Given the description of an element on the screen output the (x, y) to click on. 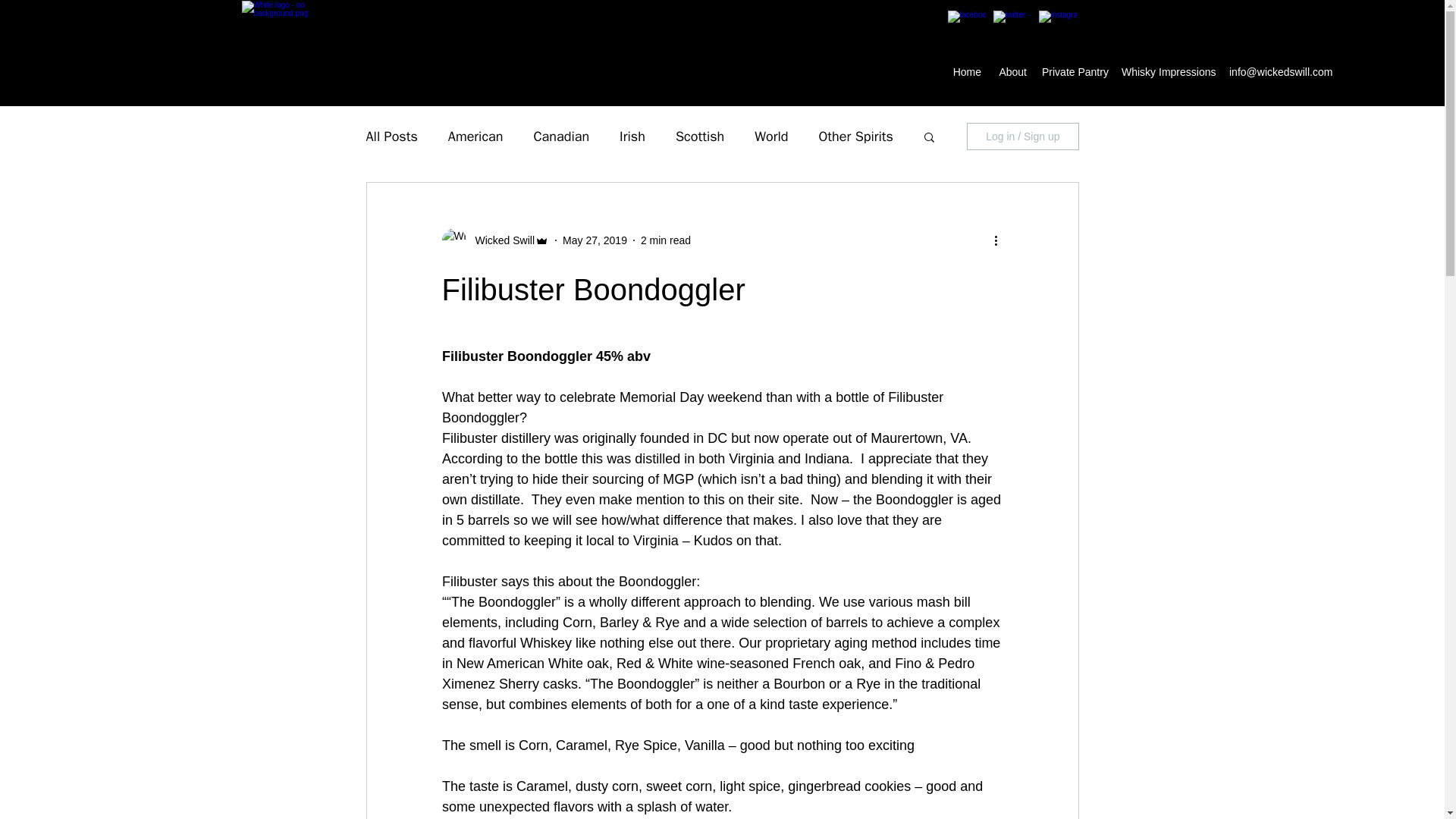
Canadian (560, 136)
World (770, 136)
Other Spirits (855, 136)
Private Pantry (1073, 71)
Wicked Swill (499, 239)
Scottish (699, 136)
American (475, 136)
May 27, 2019 (594, 239)
All Posts (390, 136)
Irish (632, 136)
About (1010, 71)
Whisky Impressions (1167, 71)
Home (966, 71)
2 min read (665, 239)
